Given the description of an element on the screen output the (x, y) to click on. 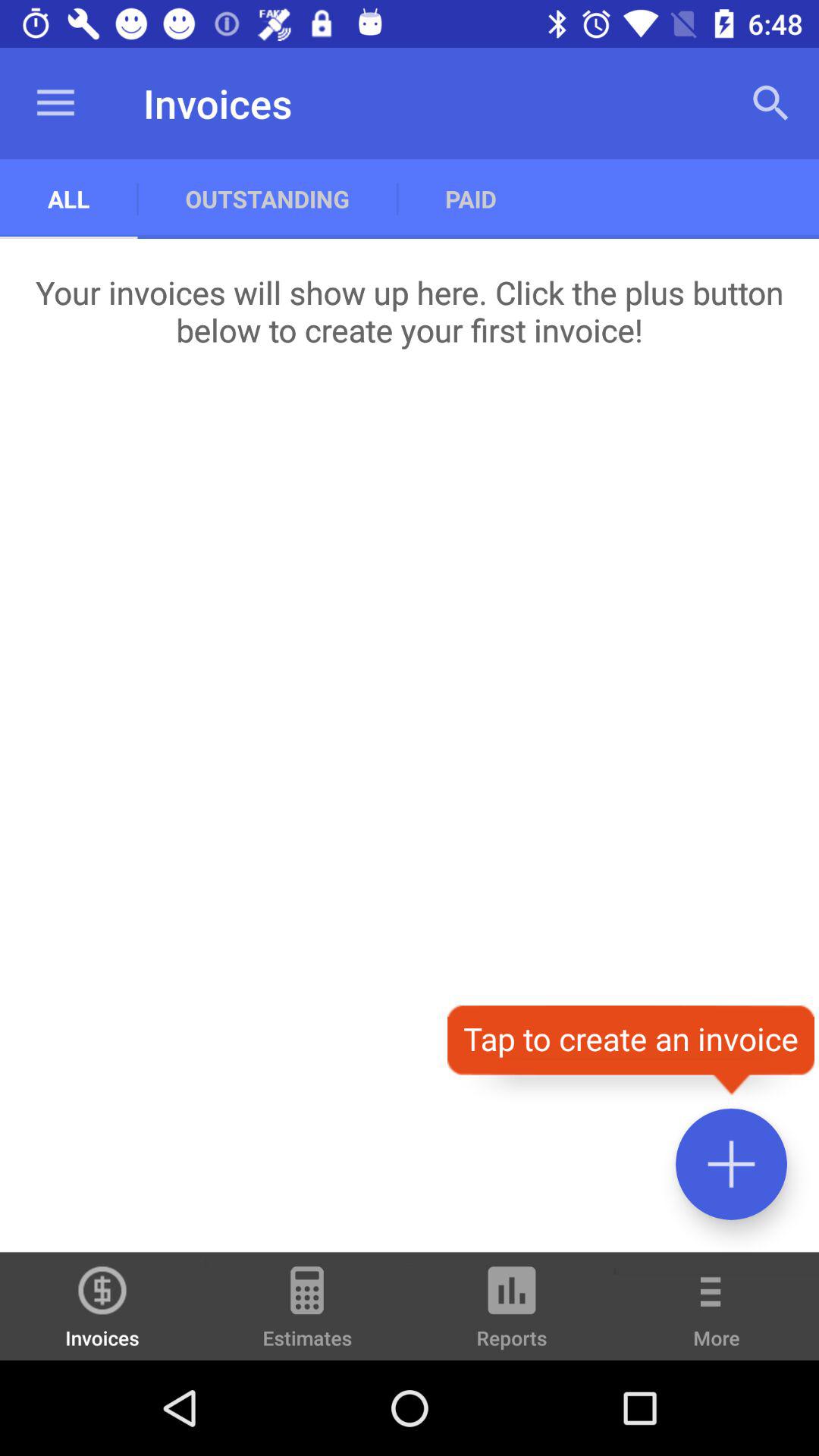
click paid item (470, 198)
